Given the description of an element on the screen output the (x, y) to click on. 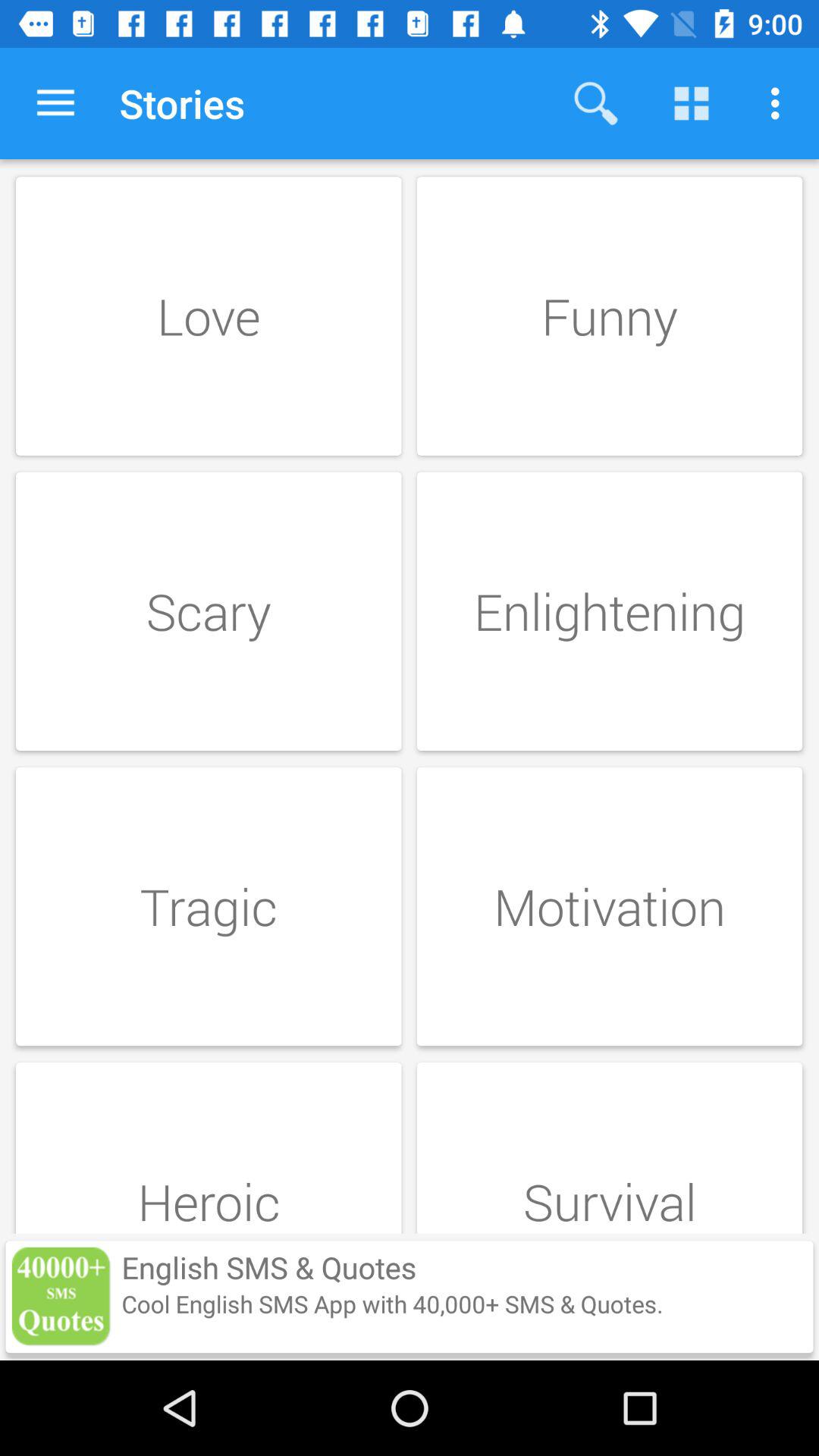
tap icon above the funny (779, 103)
